Given the description of an element on the screen output the (x, y) to click on. 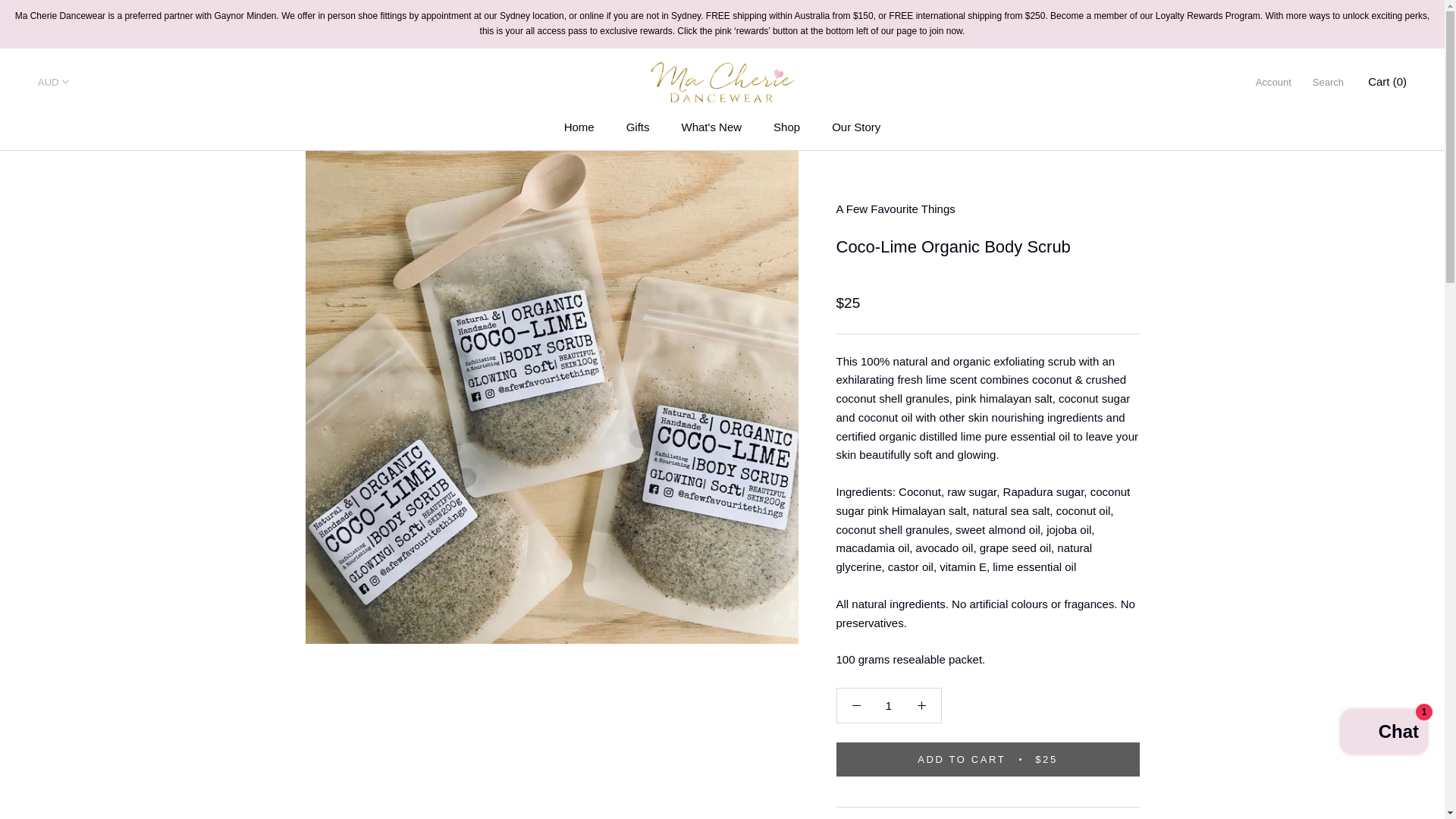
Shopify online store chat (1383, 733)
1 (888, 705)
